Given the description of an element on the screen output the (x, y) to click on. 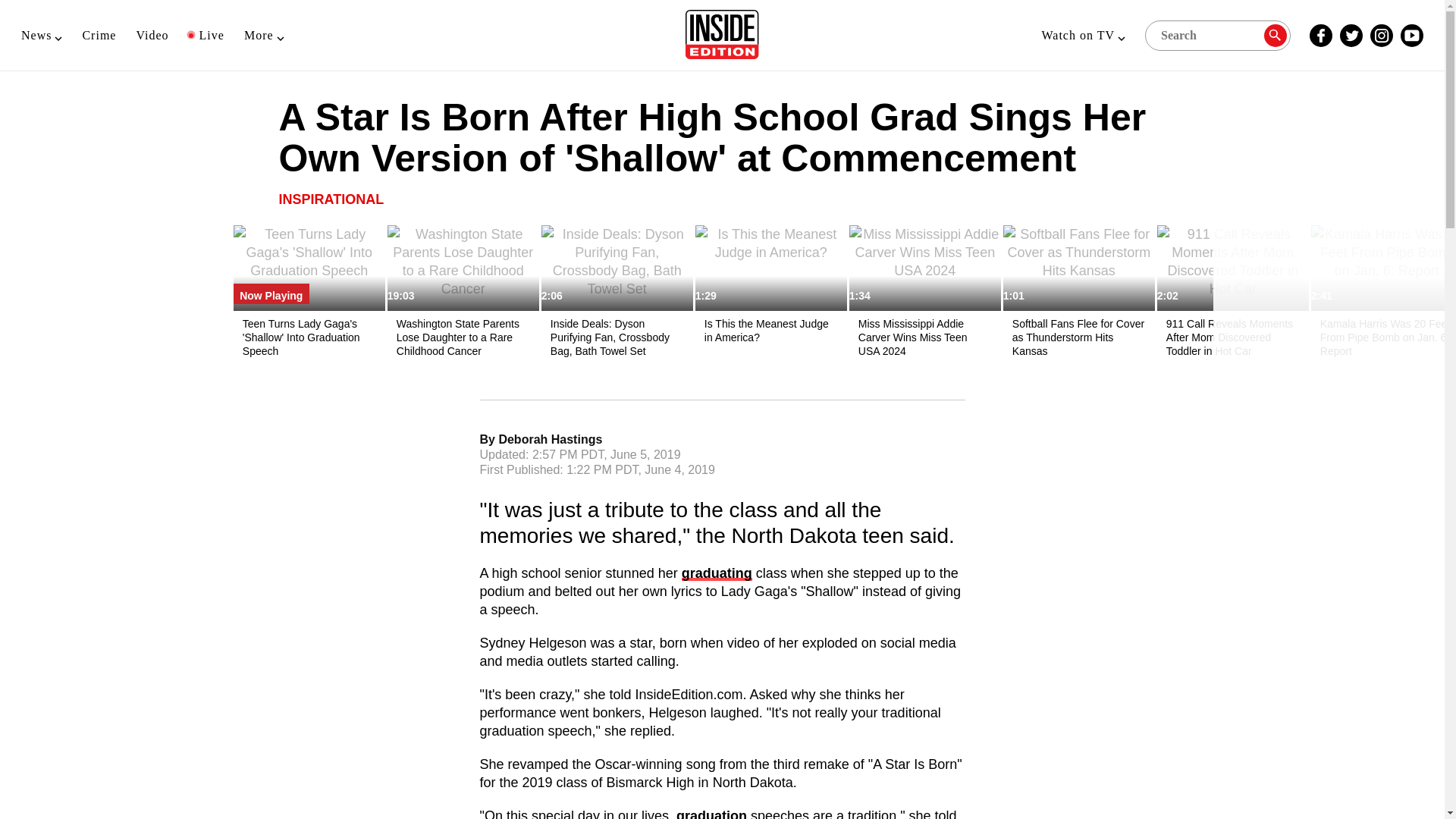
Watch on TV (1083, 35)
News (41, 35)
Video (151, 35)
Live (206, 35)
More (263, 35)
Enter the terms you wish to search for. (1217, 34)
Crime (98, 35)
